Given the description of an element on the screen output the (x, y) to click on. 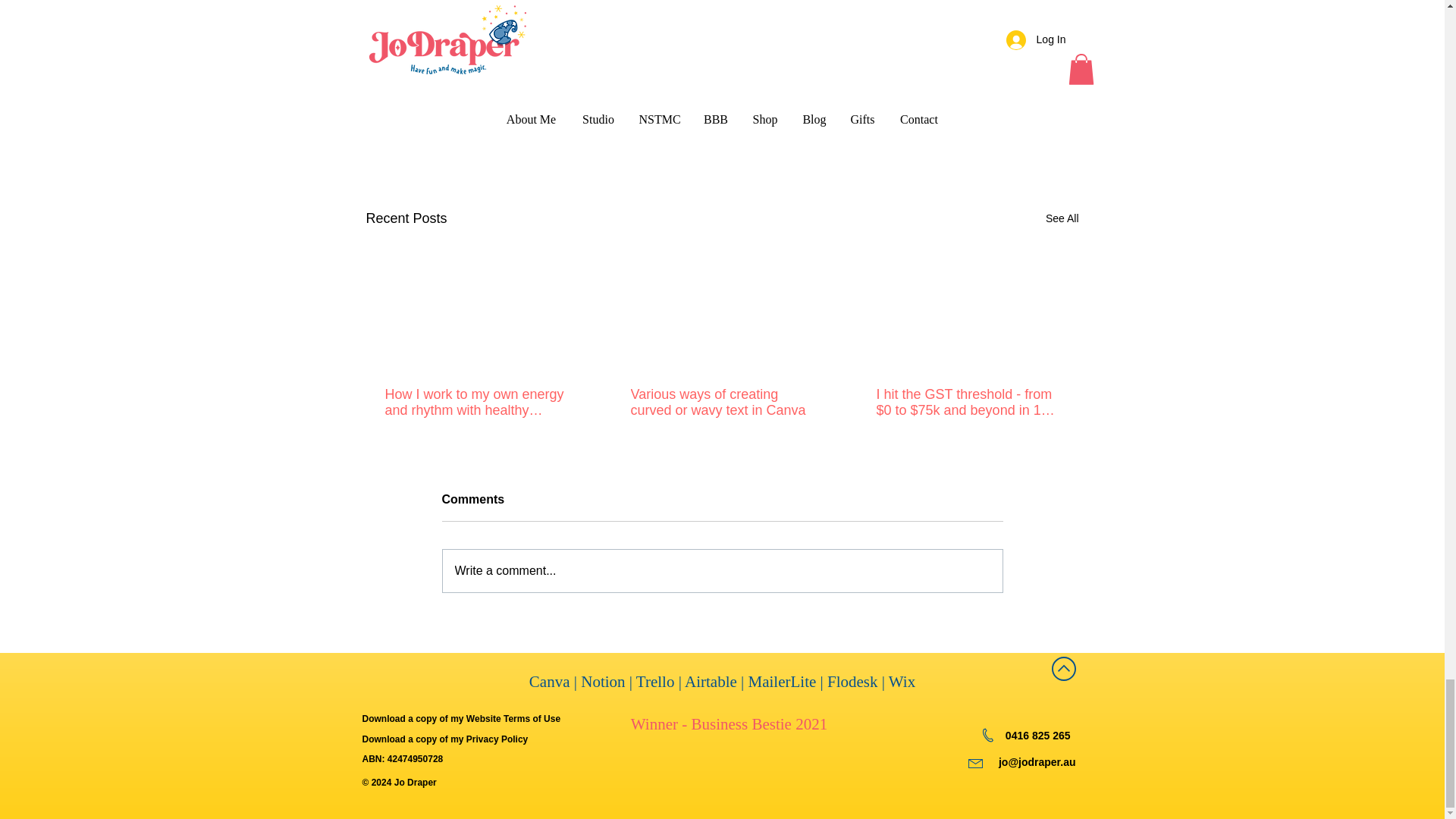
Download a copy of my Website Terms of Use (461, 718)
Various ways of creating curved or wavy text in Canva (721, 402)
Contact Page (578, 15)
Write a comment... (722, 570)
See All (1061, 219)
Download a copy of my Privacy Policy  (446, 738)
